Given the description of an element on the screen output the (x, y) to click on. 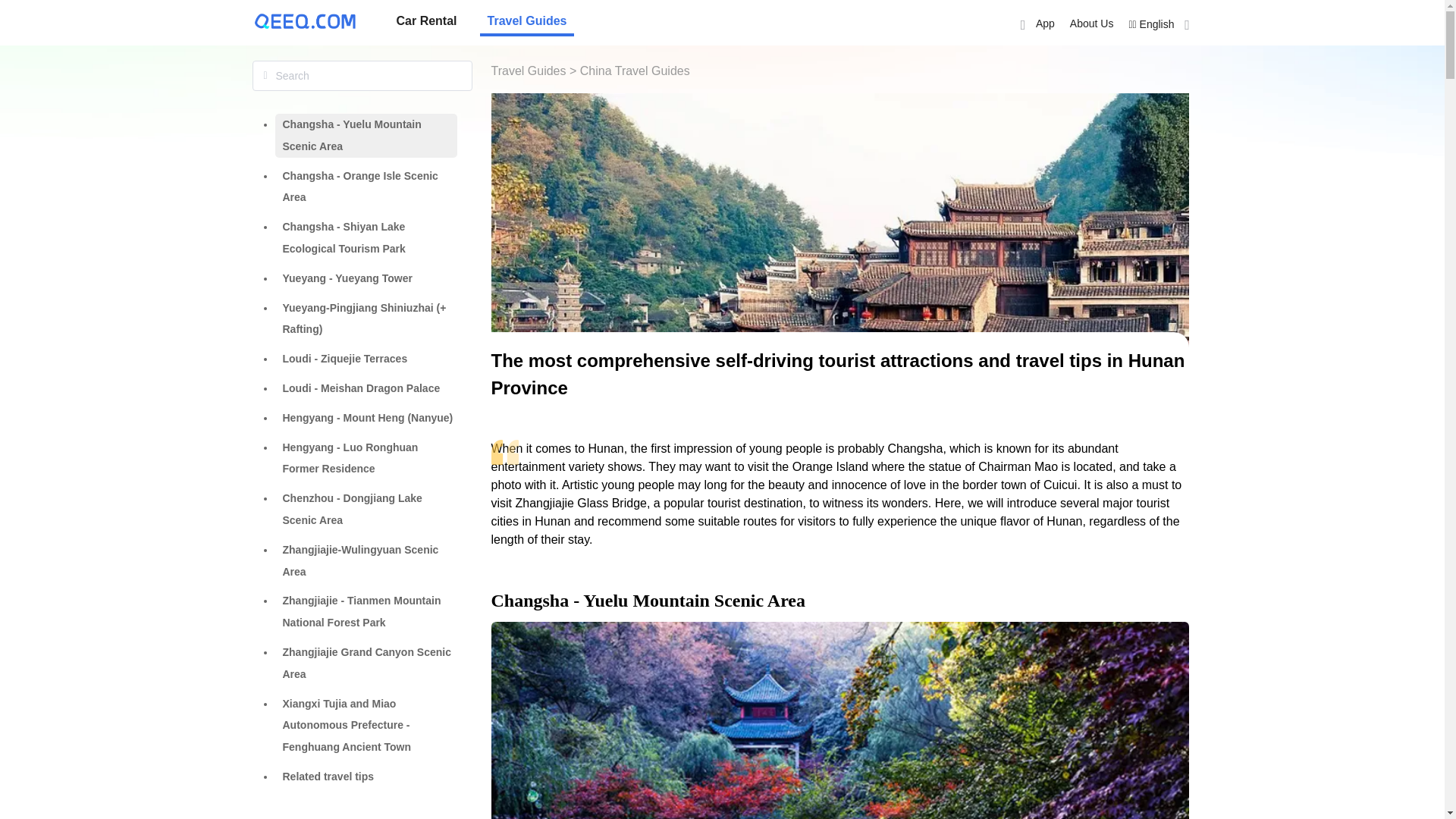
Car Rental (426, 21)
About Us (1091, 23)
App (1033, 23)
Travel Guides (527, 21)
Travel Guides (527, 21)
